Given the description of an element on the screen output the (x, y) to click on. 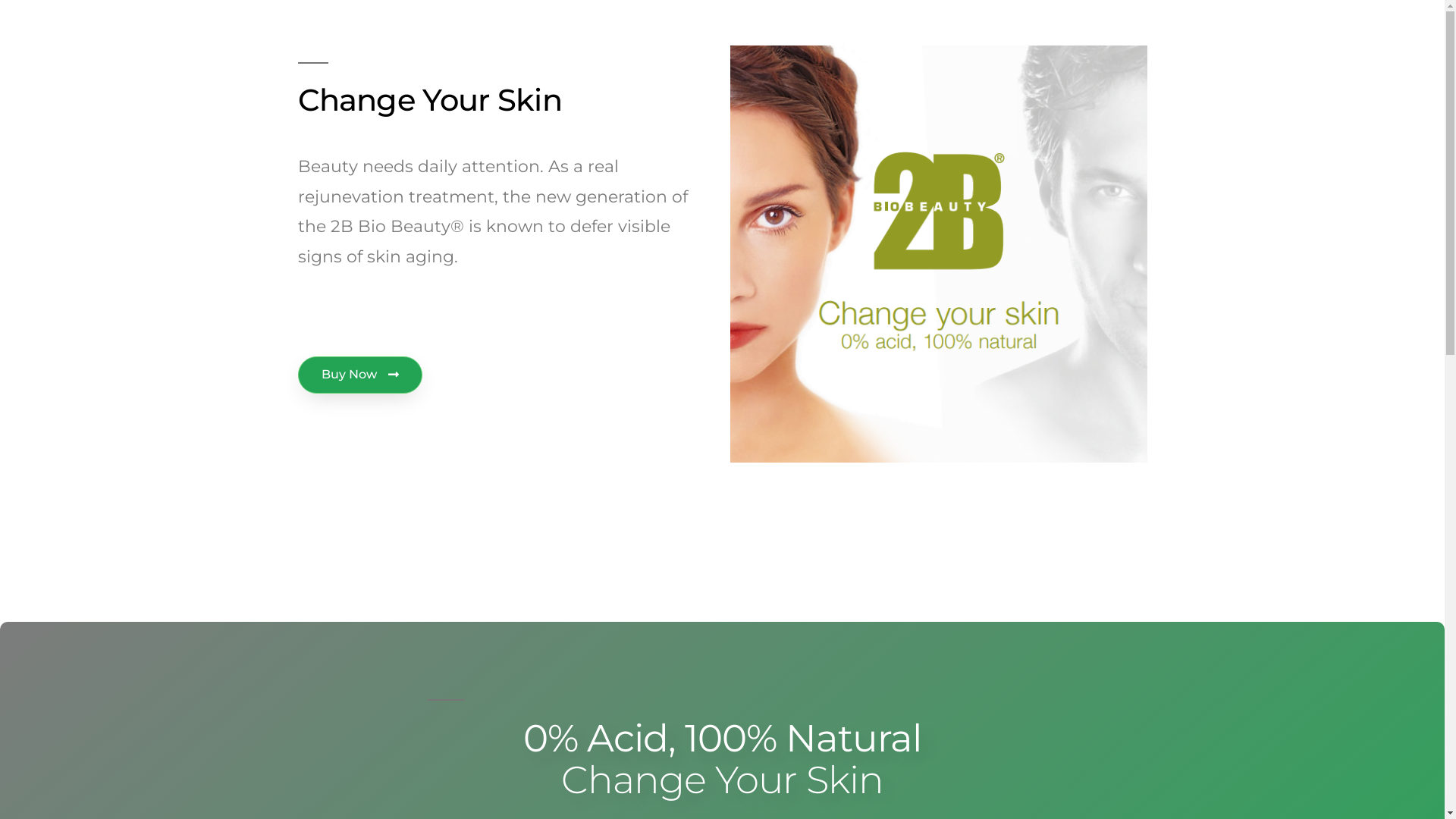
Buy Now Element type: text (359, 374)
